Given the description of an element on the screen output the (x, y) to click on. 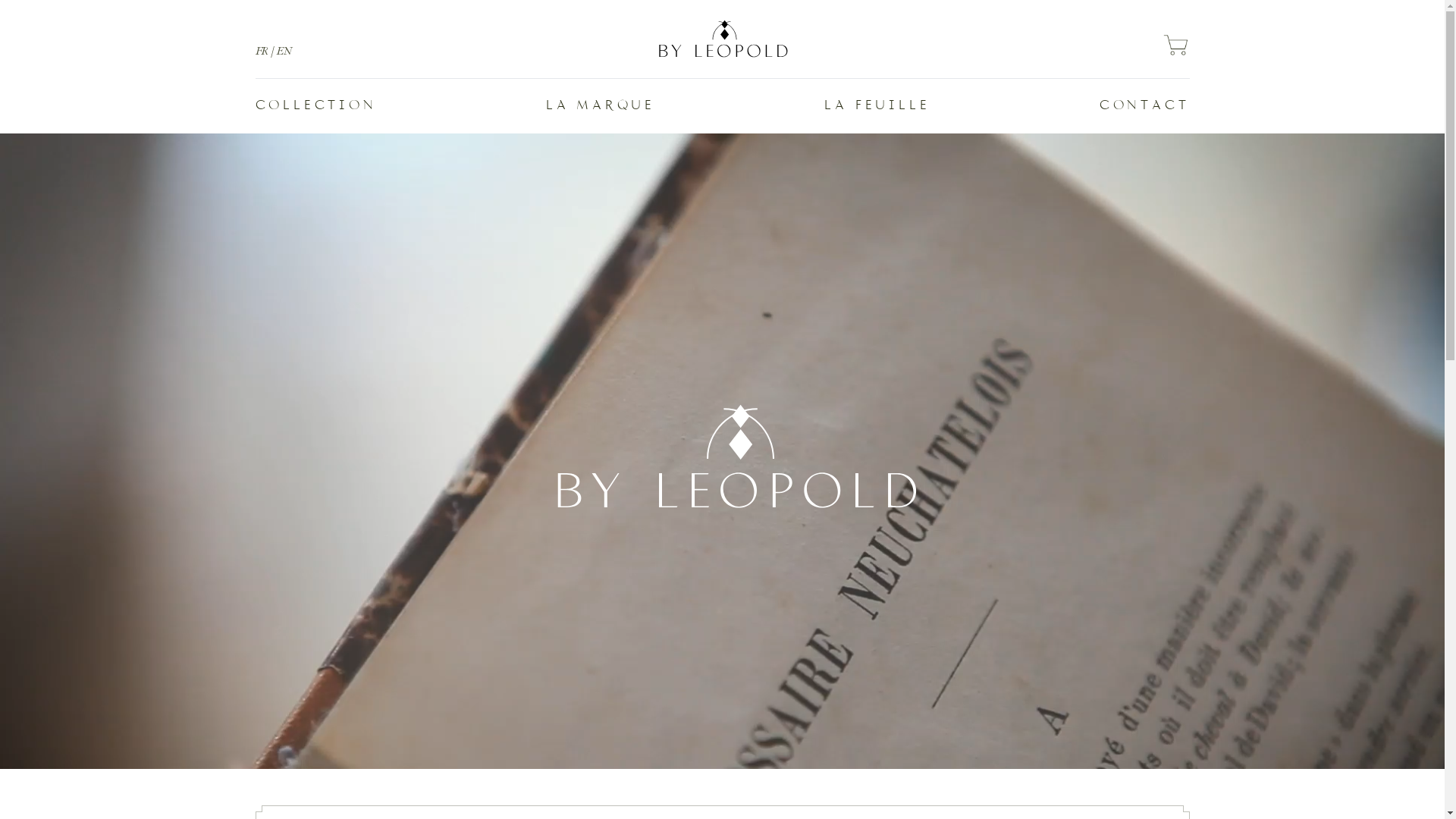
By Leopold Element type: hover (1175, 46)
EN Element type: text (283, 51)
LA MARQUE Element type: text (600, 106)
CONTACT Element type: text (1144, 106)
By Leopold Element type: hover (722, 38)
LA FEUILLE Element type: text (876, 106)
COLLECTION Element type: text (315, 106)
FR Element type: text (260, 51)
